Given the description of an element on the screen output the (x, y) to click on. 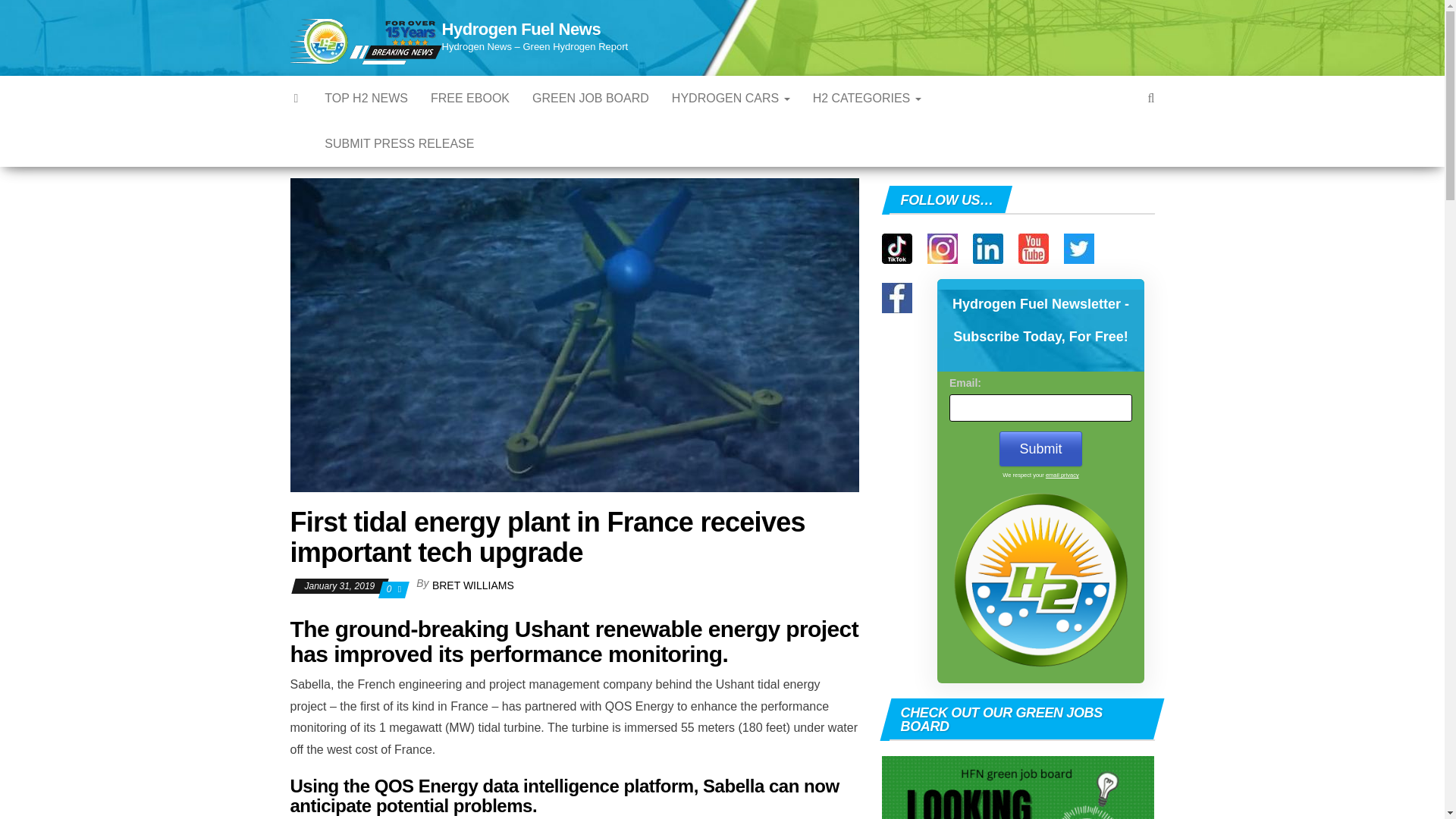
Green Job Board (591, 98)
Hydrogen Fuel News (520, 28)
Submit (1039, 448)
Top H2 News (366, 98)
FREE EBOOK (470, 98)
Hydrogen Cars (731, 98)
H2 CATEGORIES (867, 98)
TOP H2 NEWS (366, 98)
GREEN JOB BOARD (591, 98)
Free ebook (470, 98)
HYDROGEN CARS (731, 98)
